Given the description of an element on the screen output the (x, y) to click on. 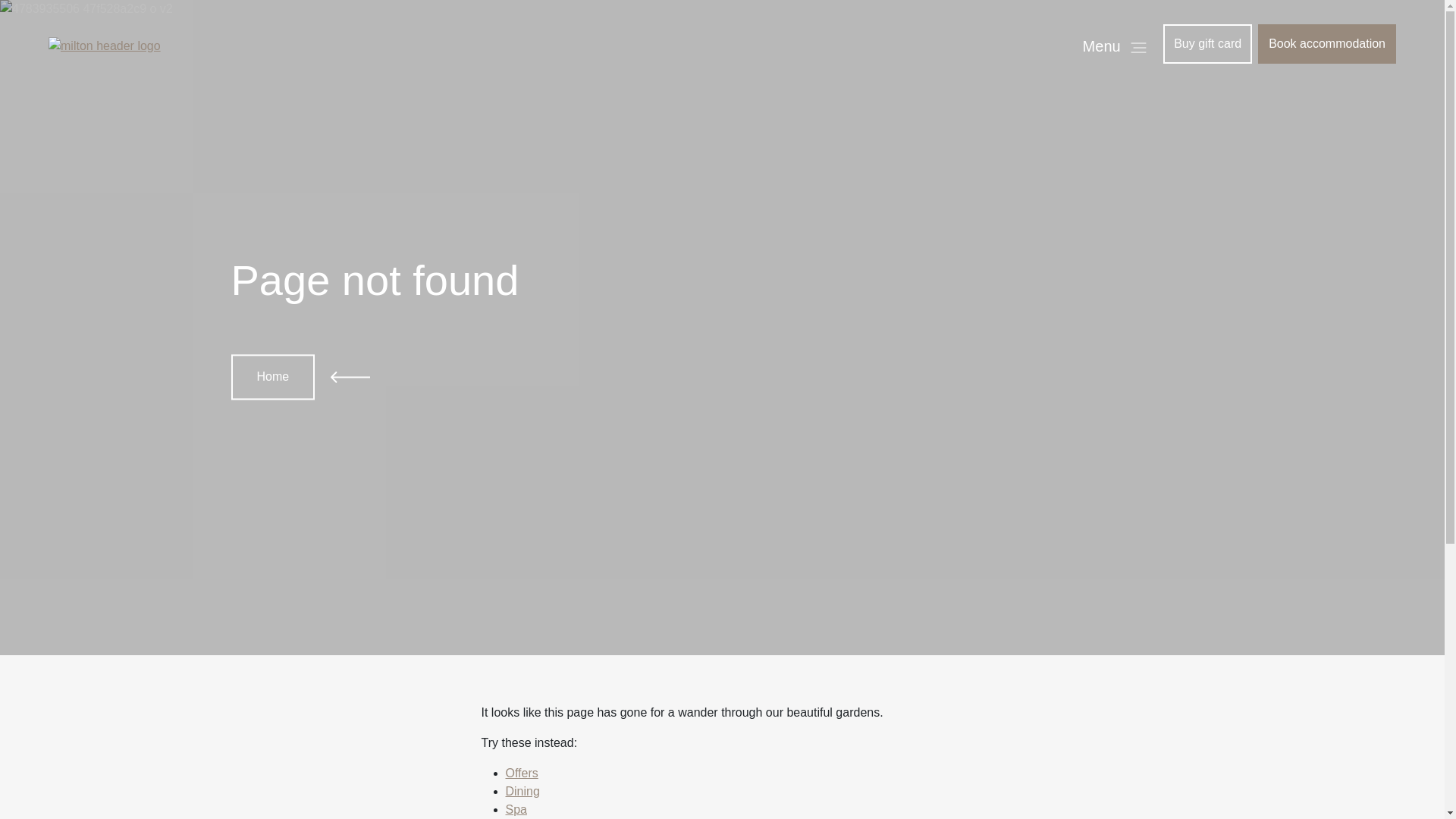
Buy gift card Element type: text (1207, 43)
Dining Element type: text (522, 790)
Home Element type: text (272, 377)
Spa Element type: text (515, 809)
Offers Element type: text (521, 772)
Book accommodation Element type: text (1327, 43)
Menu Element type: text (1114, 46)
